Given the description of an element on the screen output the (x, y) to click on. 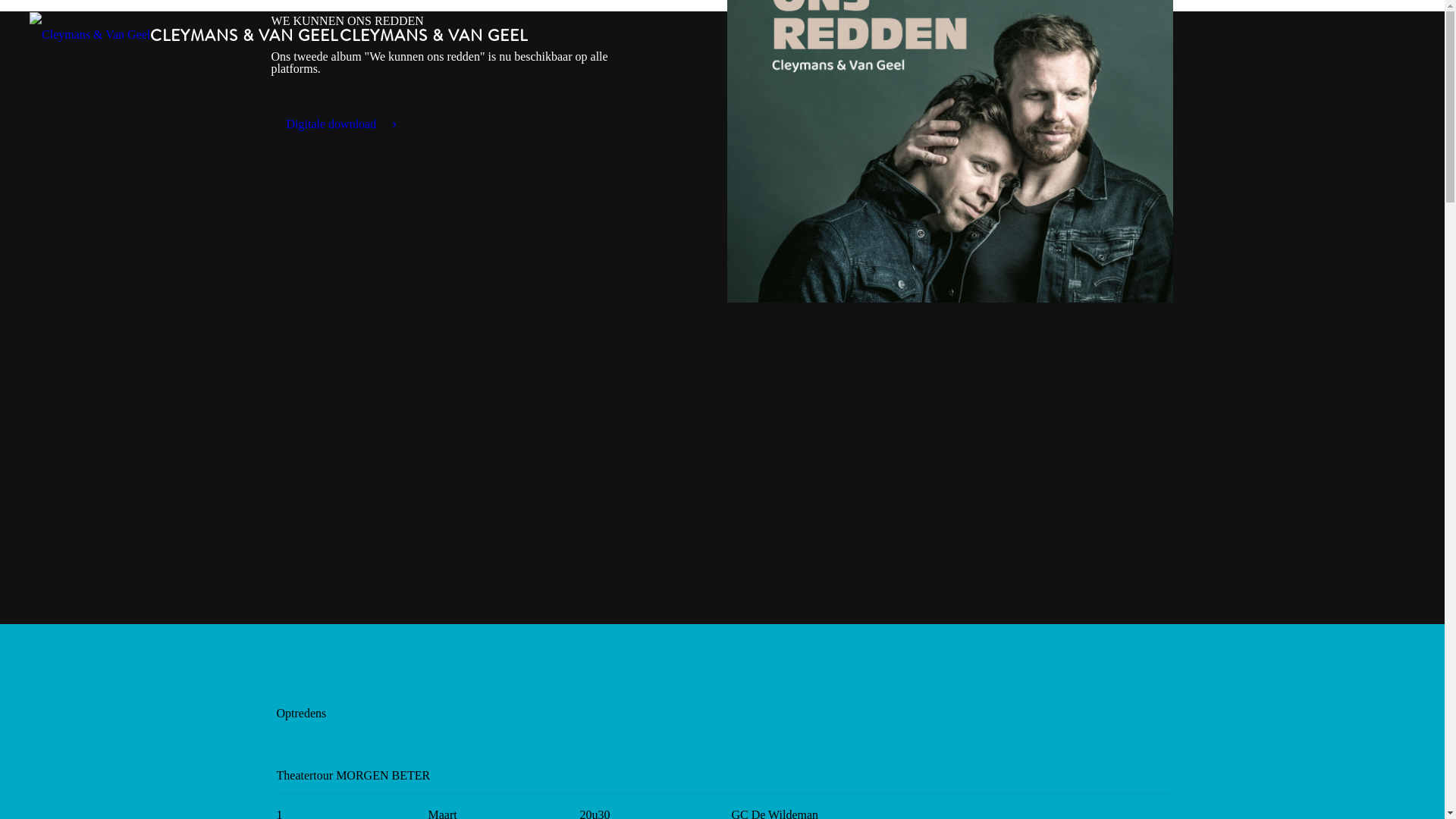
Cleymans & Van Geel Element type: hover (279, 33)
Digitale download Element type: text (342, 123)
